Given the description of an element on the screen output the (x, y) to click on. 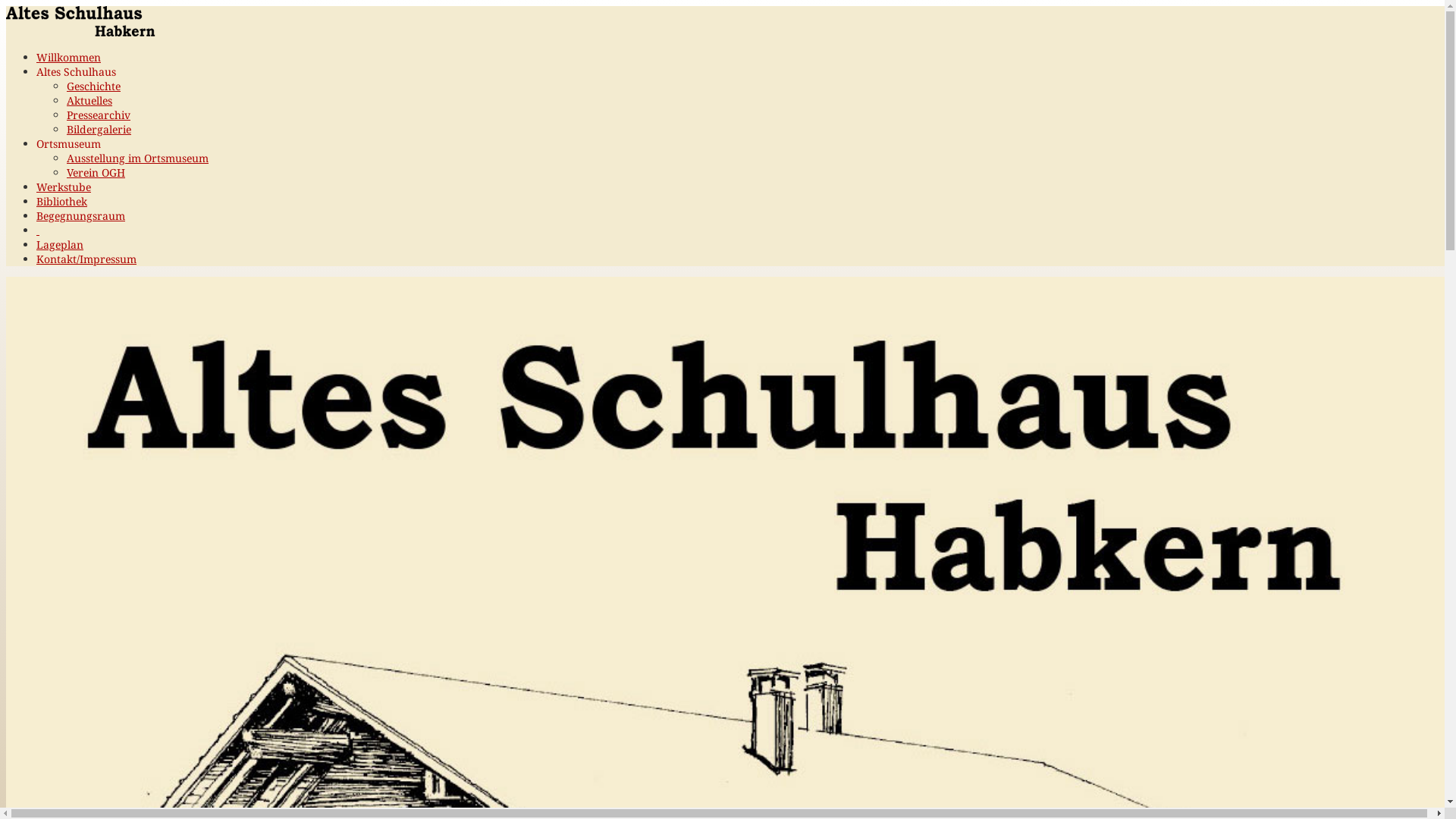
Altes Schulhaus Element type: text (76, 71)
Begegnungsraum Element type: text (80, 215)
Geschichte Element type: text (93, 85)
Kontakt/Impressum Element type: text (86, 258)
Pressearchiv Element type: text (98, 114)
Ortsmuseum Element type: text (68, 143)
Ausstellung im Ortsmuseum Element type: text (137, 157)
Bildergalerie Element type: text (98, 129)
Aktuelles Element type: text (89, 100)
Verein OGH Element type: text (95, 172)
Bibliothek Element type: text (61, 201)
Willkommen Element type: text (68, 57)
Lageplan Element type: text (59, 244)
Werkstube Element type: text (63, 186)
  Element type: text (37, 229)
